Given the description of an element on the screen output the (x, y) to click on. 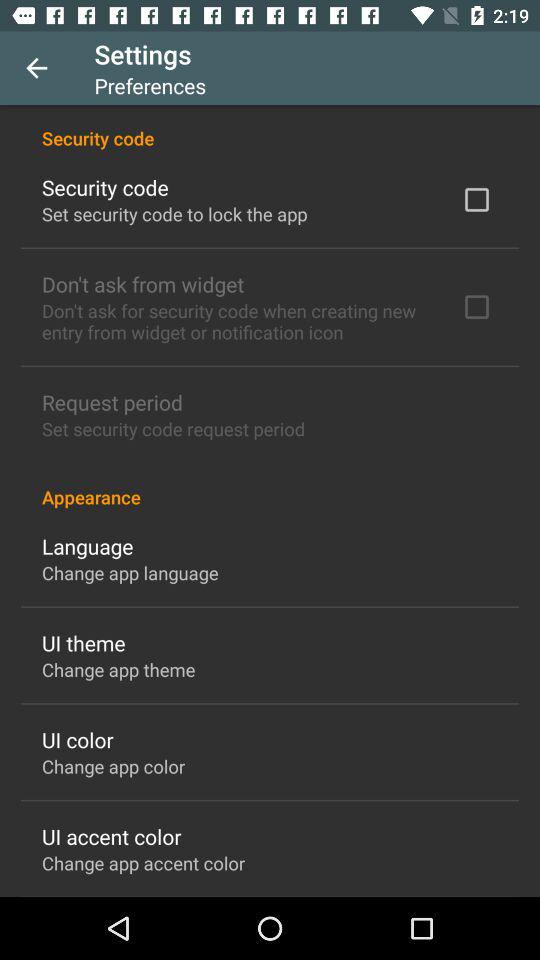
scroll to ui theme icon (83, 642)
